Given the description of an element on the screen output the (x, y) to click on. 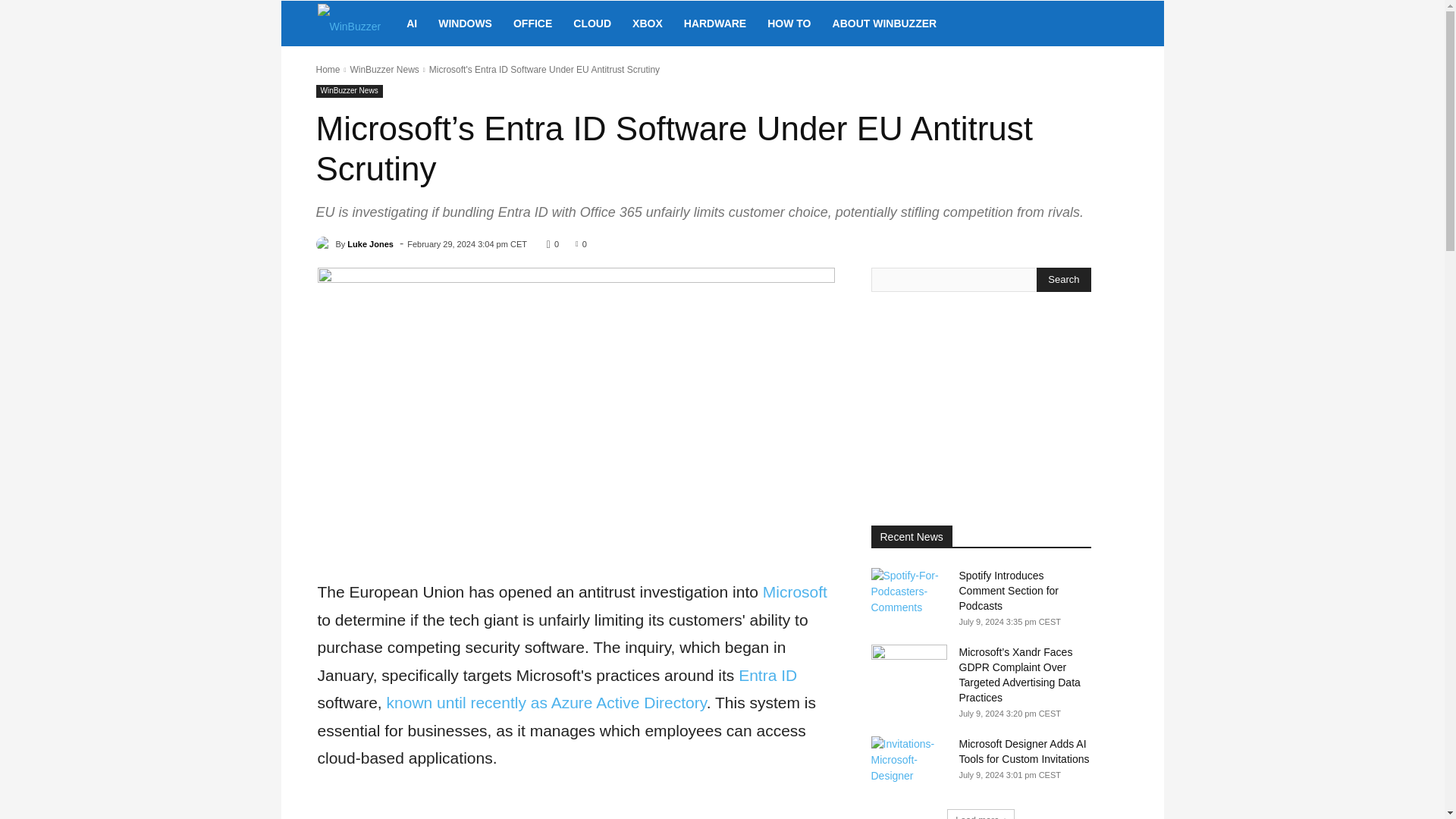
Luke Jones (324, 243)
Search (1063, 279)
Spotify Introduces Comment Section for Podcasts (908, 594)
View all posts in WinBuzzer News (384, 69)
Posts tagged with Microsoft (794, 591)
